Given the description of an element on the screen output the (x, y) to click on. 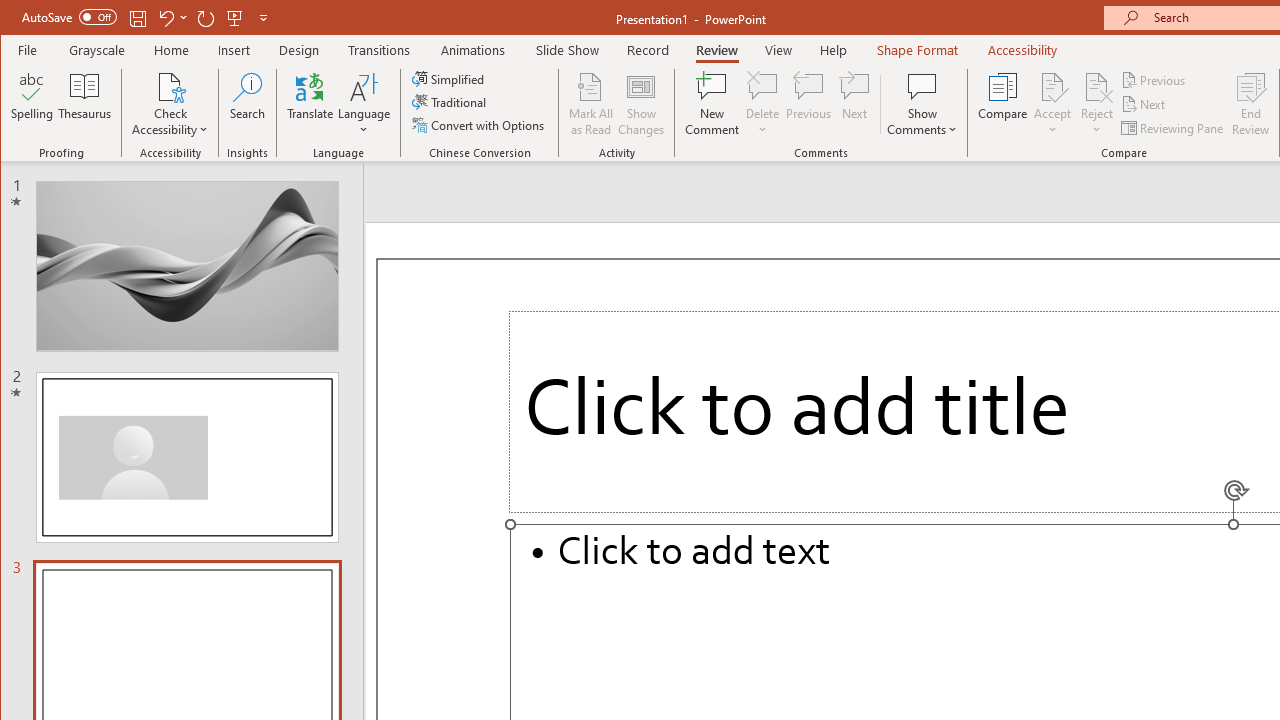
Convert with Options... (479, 124)
Translate (310, 104)
New Comment (712, 104)
Reject Change (1096, 86)
Next (1144, 103)
